Given the description of an element on the screen output the (x, y) to click on. 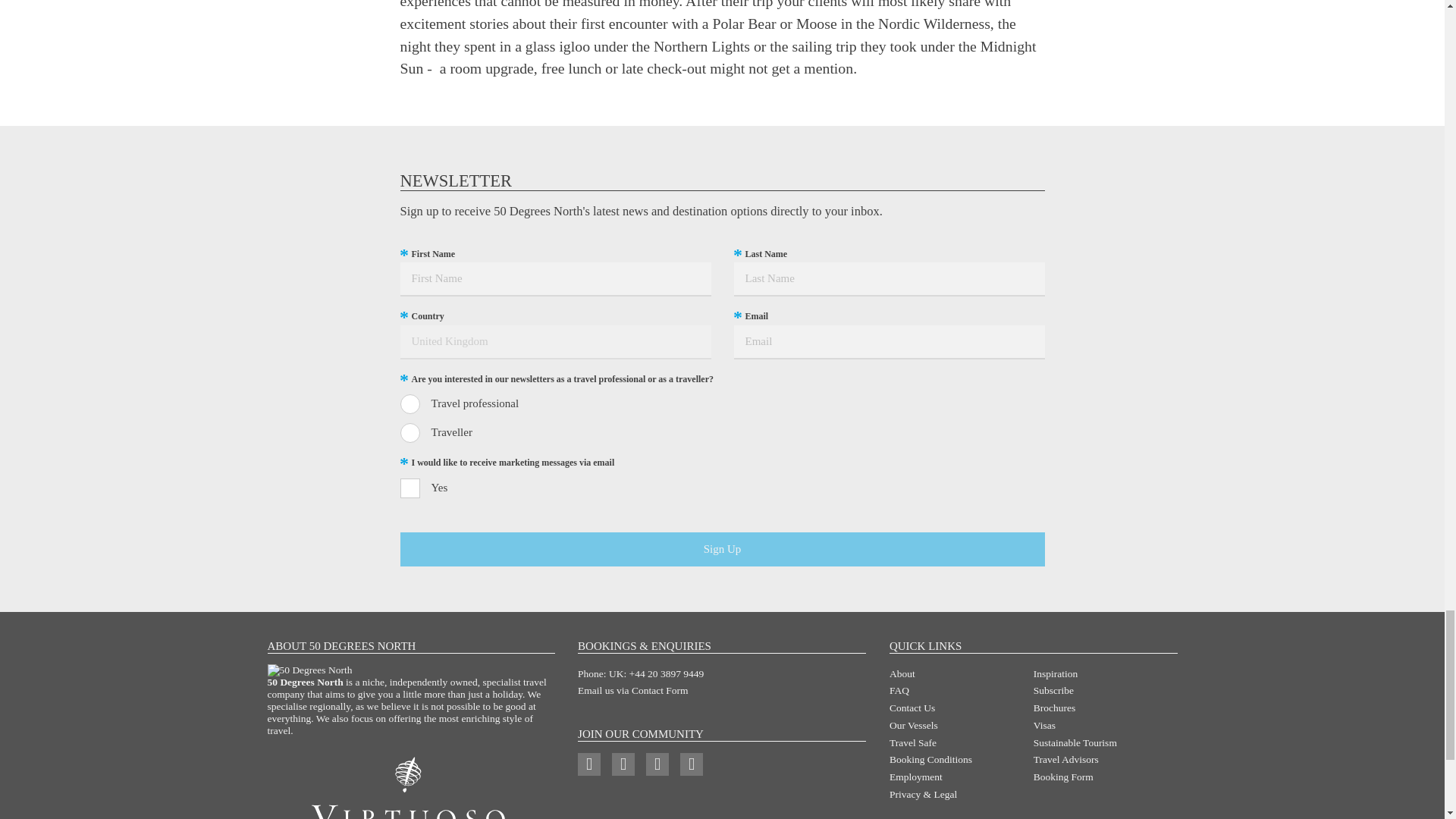
00NVg000000RE25 (410, 433)
1 (410, 487)
00NVg000000RE0T (410, 403)
